Given the description of an element on the screen output the (x, y) to click on. 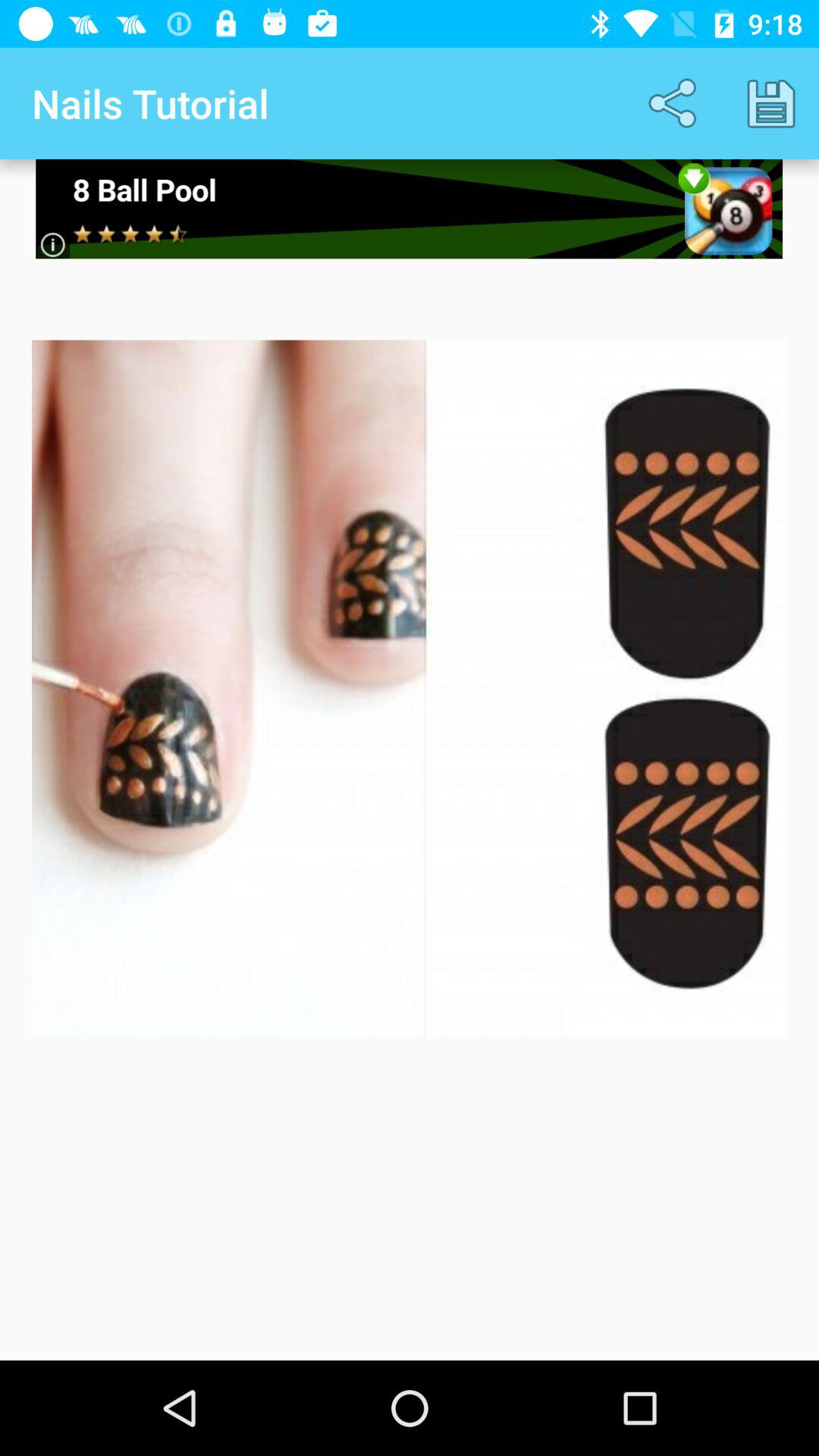
this is an advertisement (408, 208)
